Given the description of an element on the screen output the (x, y) to click on. 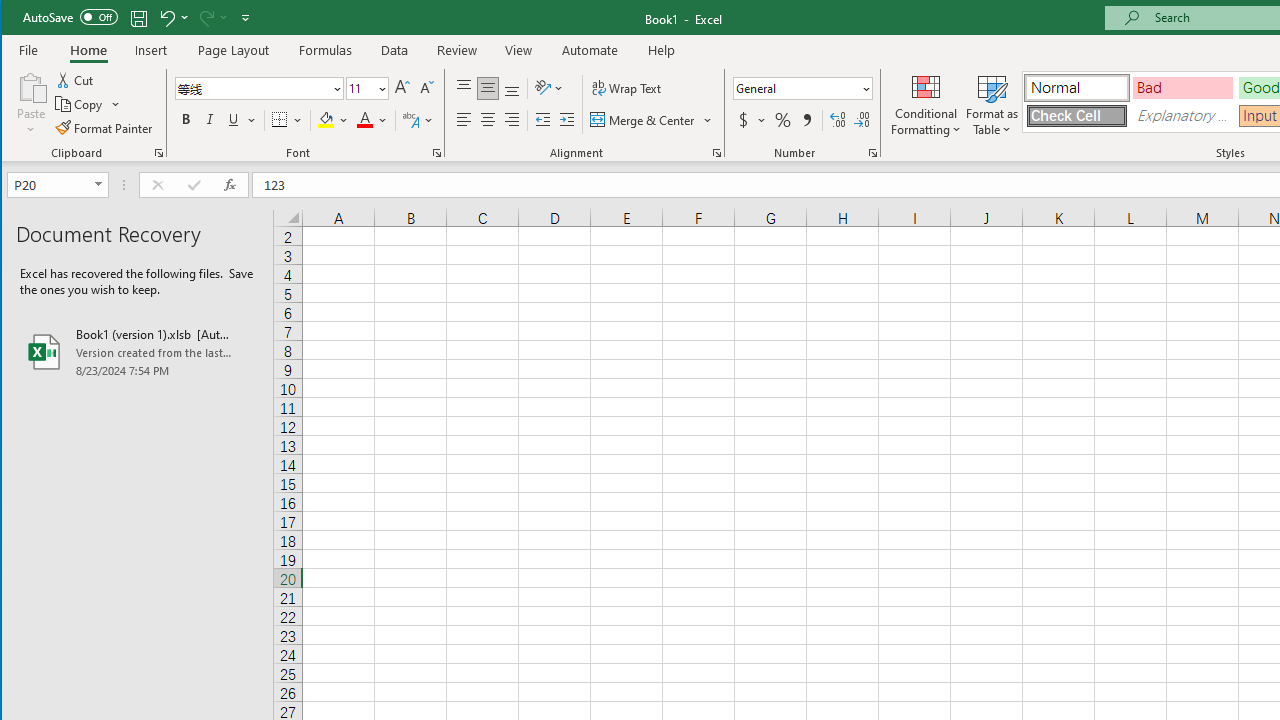
Orientation (550, 88)
Underline (240, 119)
Paste (31, 104)
Align Left (463, 119)
Increase Decimal (837, 119)
Decrease Decimal (861, 119)
Bold (186, 119)
Align Right (511, 119)
Number Format (802, 88)
Middle Align (488, 88)
Font Size (360, 88)
Font Color RGB(255, 0, 0) (365, 119)
